Given the description of an element on the screen output the (x, y) to click on. 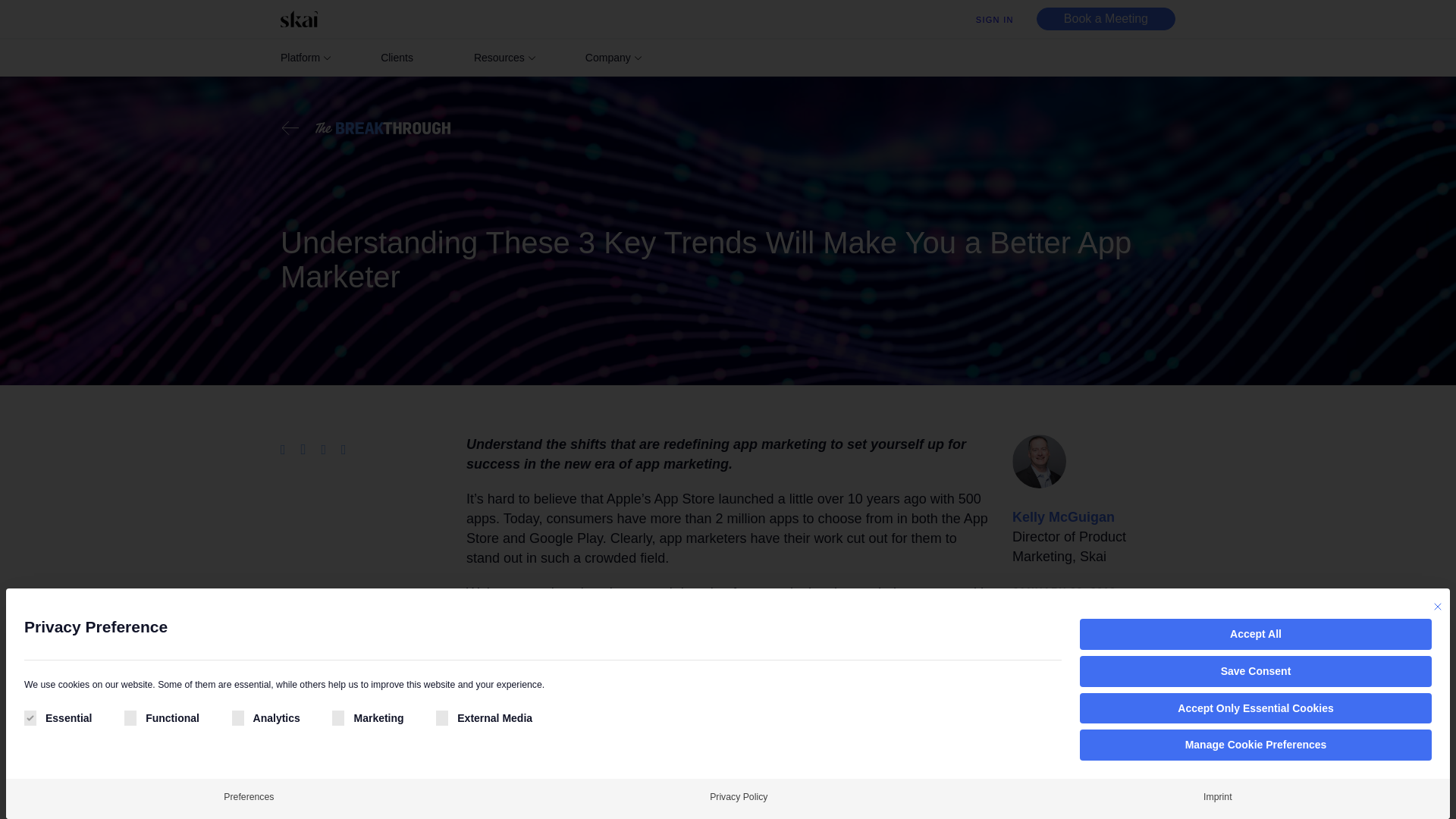
Kelly McGuigan (1063, 516)
Home Page (303, 18)
Book a Meeting (1105, 18)
Posts by Kelly McGuigan (1063, 516)
SIGN IN (994, 19)
